Given the description of an element on the screen output the (x, y) to click on. 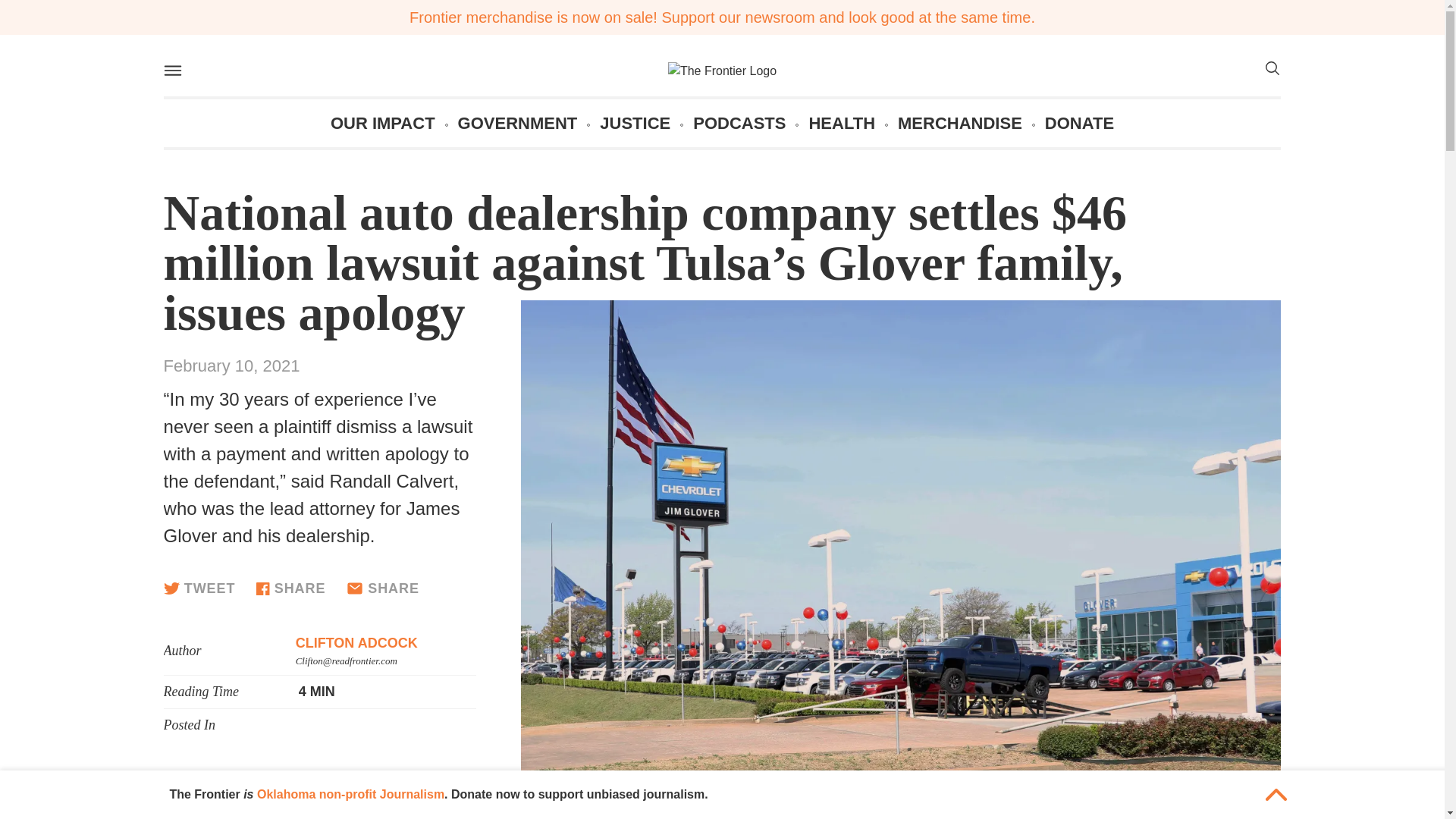
GOVERNMENT (518, 122)
PODCASTS (739, 122)
SHARE (382, 588)
HEALTH (841, 122)
DONATE (1079, 122)
TWEET (199, 588)
MERCHANDISE (960, 122)
OUR IMPACT (382, 122)
CLIFTON ADCOCK (356, 642)
